Given the description of an element on the screen output the (x, y) to click on. 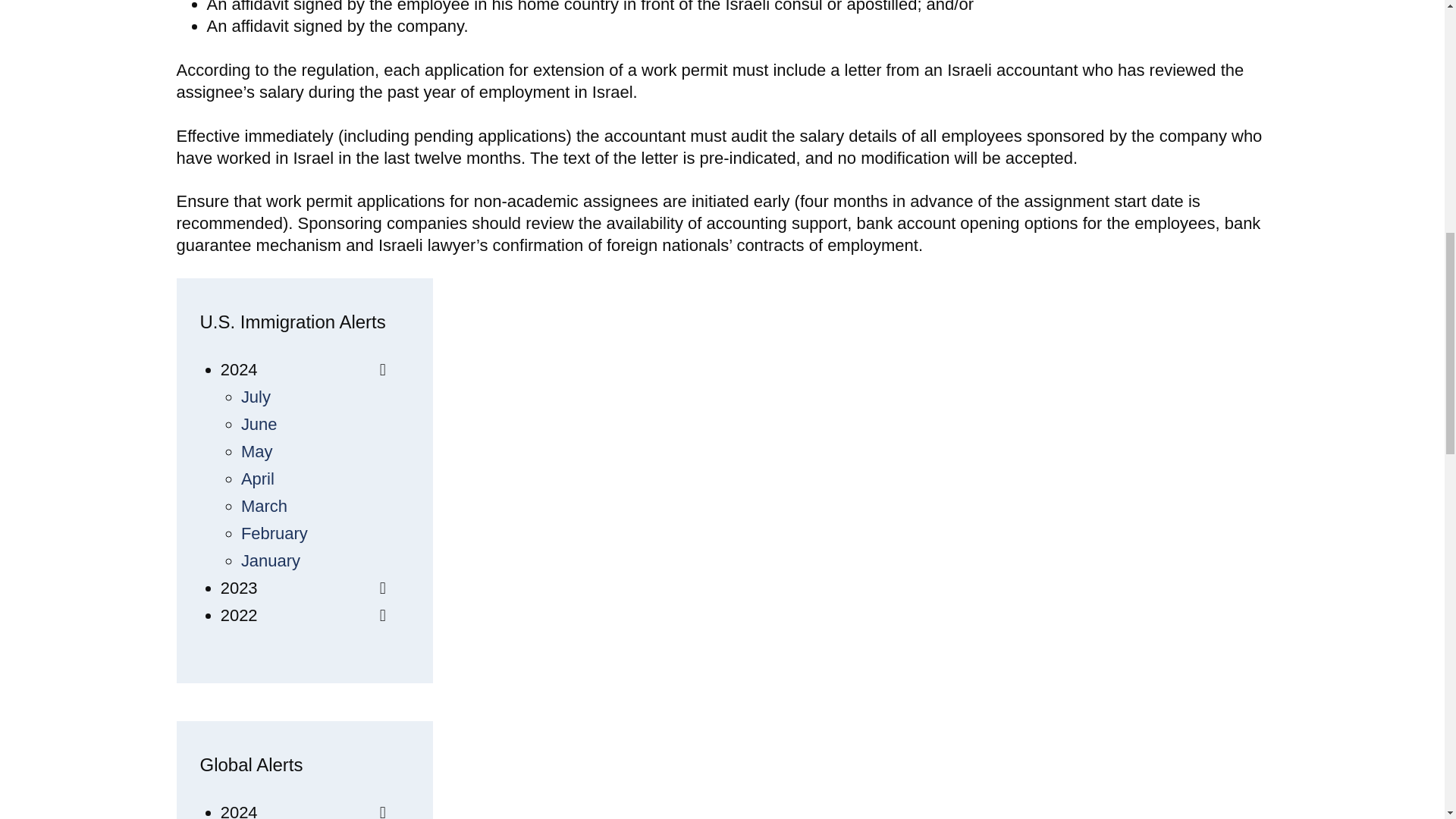
February (274, 533)
January (270, 560)
July (255, 396)
June (259, 424)
March (263, 505)
April (258, 478)
May (257, 451)
